Given the description of an element on the screen output the (x, y) to click on. 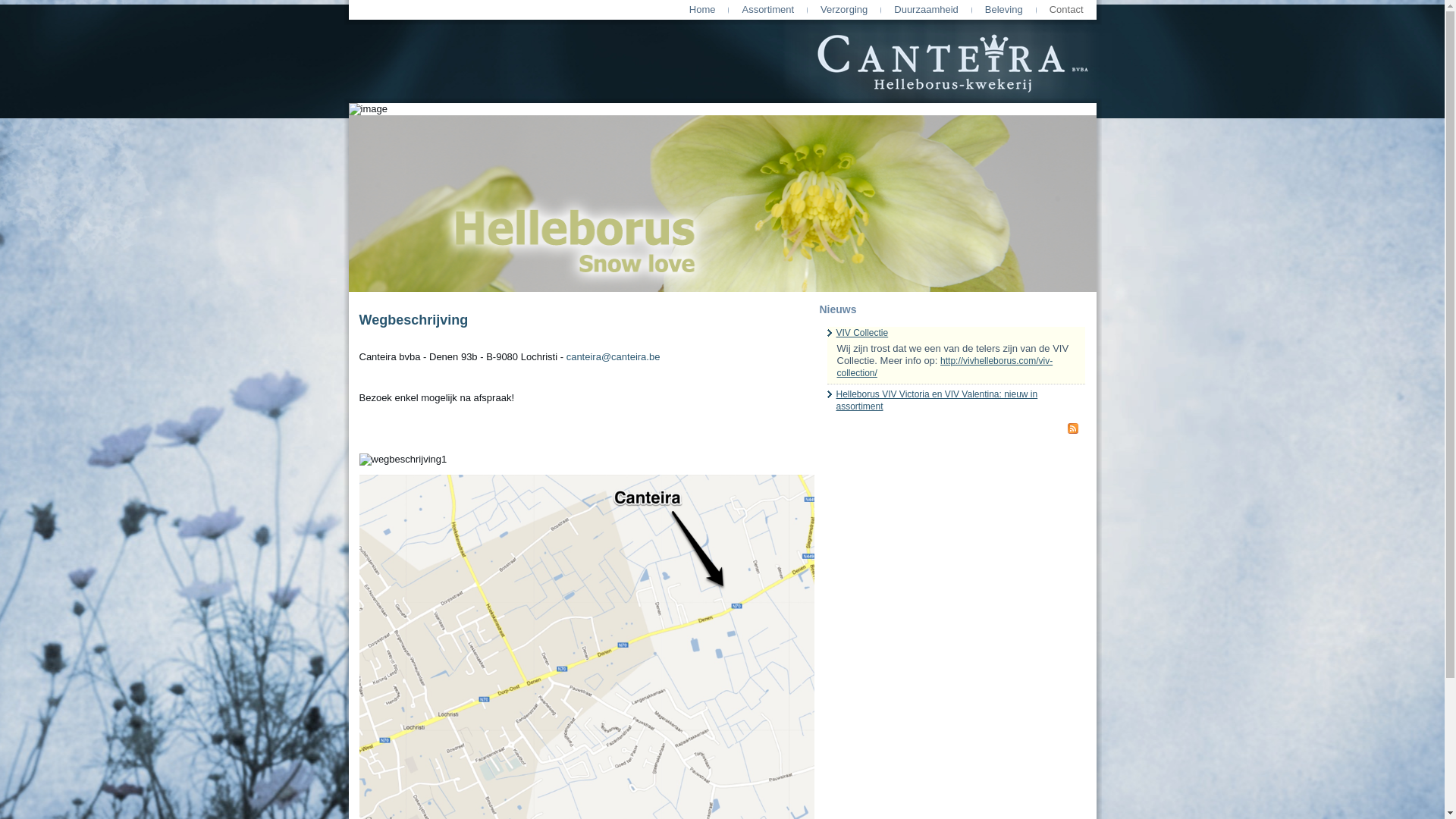
image Element type: hover (722, 209)
http://vivhelleborus.com/viv-collection/ Element type: text (945, 367)
Assortiment Element type: text (767, 9)
image Element type: hover (367, 109)
Wegbeschrijving Element type: text (413, 319)
VIV Collectie Element type: text (861, 332)
Duurzaamheid Element type: text (926, 9)
Beleving Element type: text (1003, 9)
Contact Element type: text (1066, 9)
Subscribe to this RSS feed Element type: hover (1072, 428)
Home Element type: text (702, 9)
Verzorging Element type: text (843, 9)
canteira@canteira.be Element type: text (613, 356)
